Given the description of an element on the screen output the (x, y) to click on. 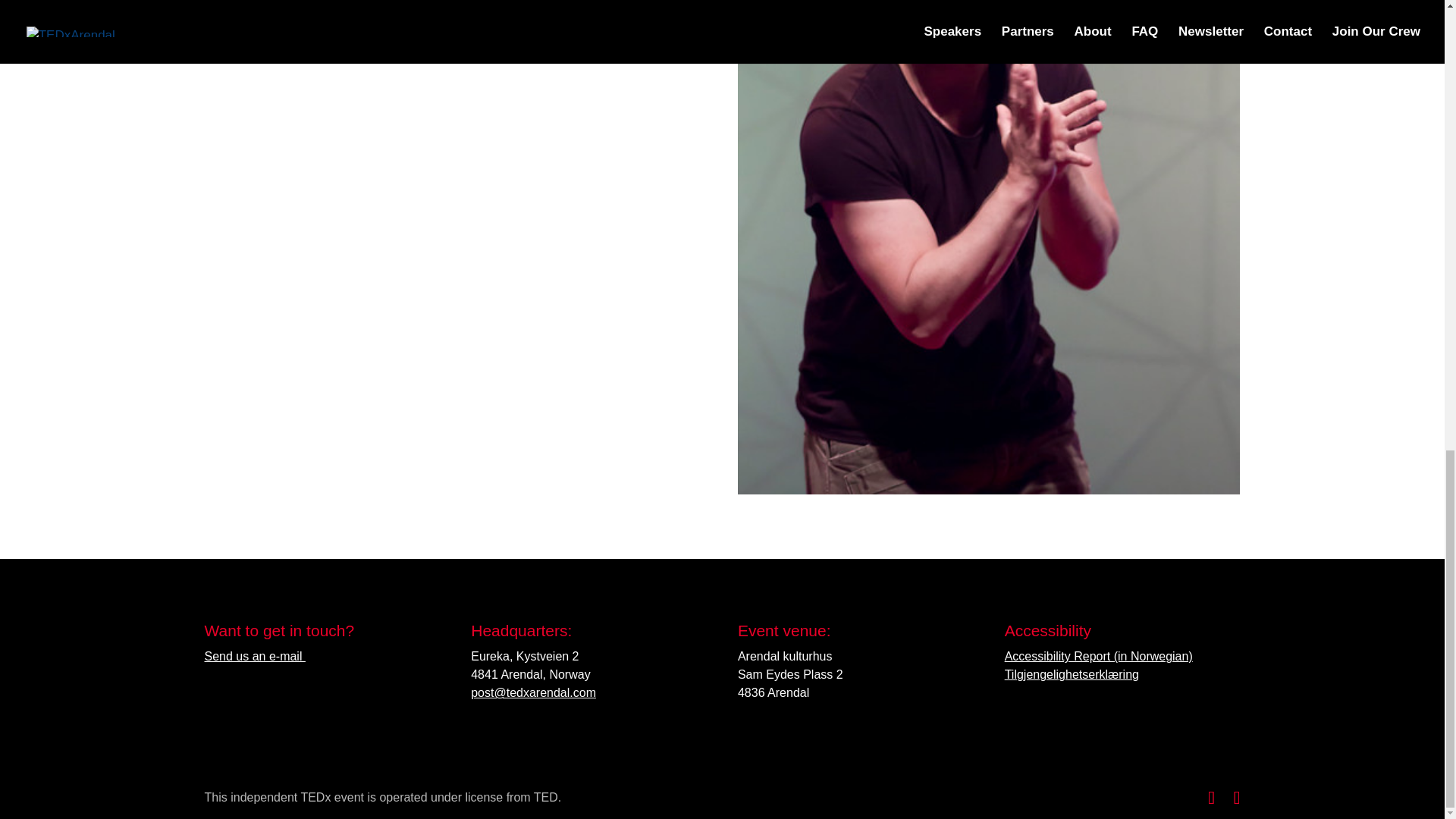
TEDxArendal 2016: Peter Stavrum Nielsen (989, 484)
Send us an e-mail  (255, 656)
